Given the description of an element on the screen output the (x, y) to click on. 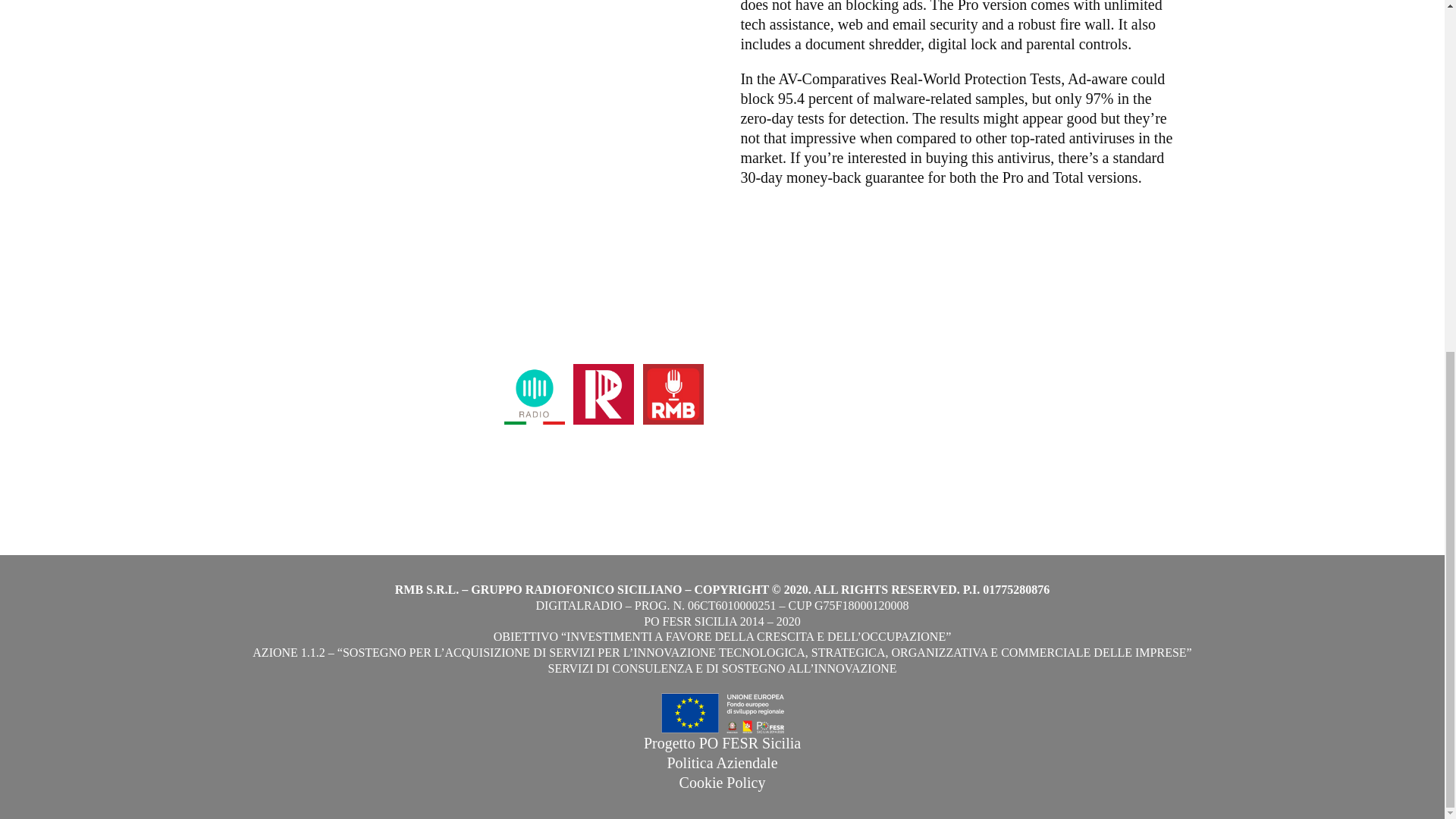
Twitter (765, 393)
Radio Player (604, 459)
DIRETTA LIVE (1025, 340)
FM World (534, 459)
Instagram (774, 373)
Gruppo RMB (672, 459)
Etna Radio (1009, 373)
Radio Cuore (1015, 393)
YouTube (771, 412)
